Given the description of an element on the screen output the (x, y) to click on. 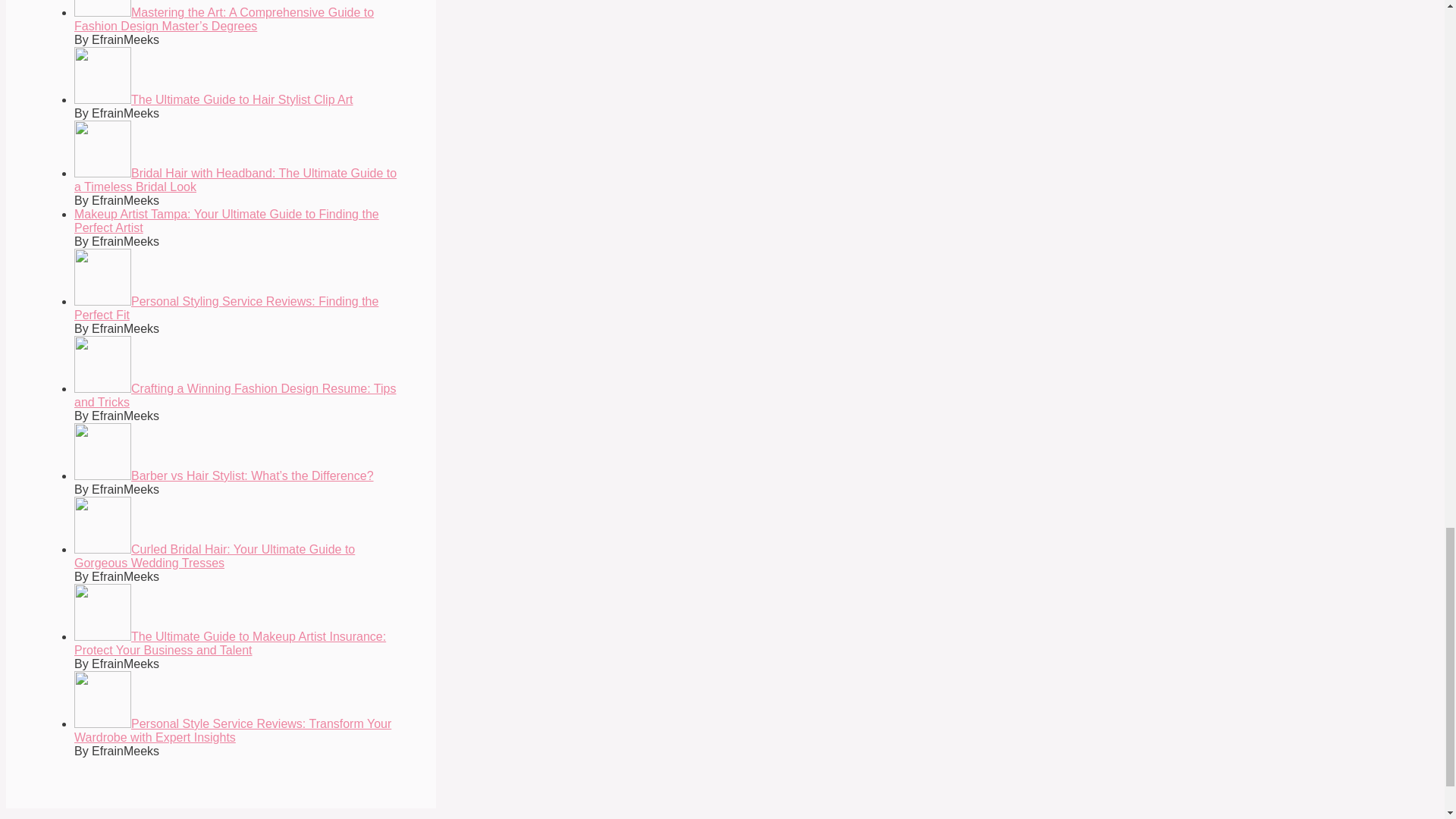
Crafting a Winning Fashion Design Resume: Tips and Tricks (235, 395)
Personal Styling Service Reviews: Finding the Perfect Fit (226, 307)
The Ultimate Guide to Hair Stylist Clip Art (213, 99)
